Given the description of an element on the screen output the (x, y) to click on. 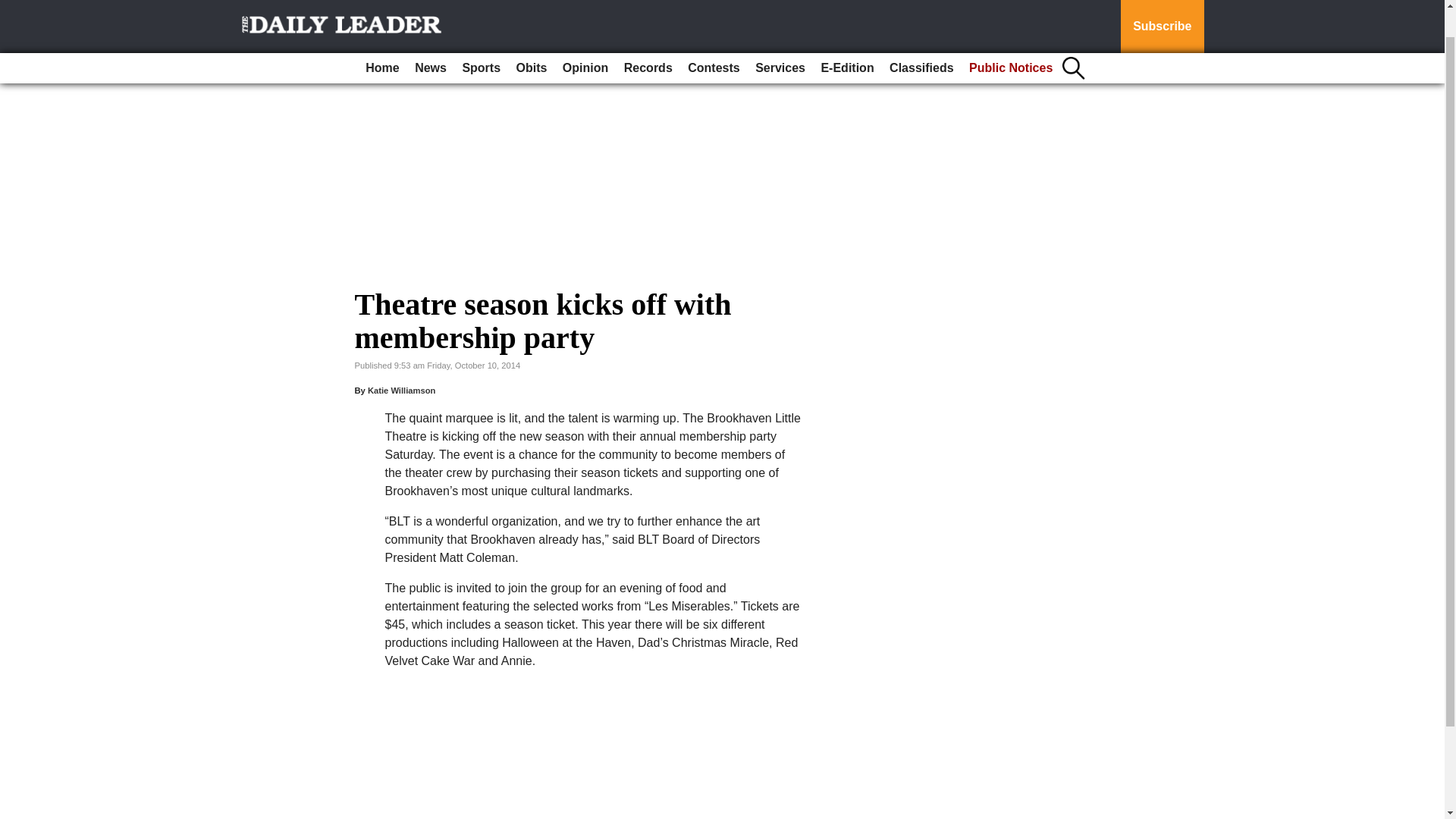
Services (779, 37)
Obits (532, 37)
Katie Williamson (401, 389)
Records (647, 37)
E-Edition (846, 37)
Opinion (585, 37)
Public Notices (1010, 37)
Home (381, 37)
Subscribe (1162, 11)
Contests (713, 37)
